Given the description of an element on the screen output the (x, y) to click on. 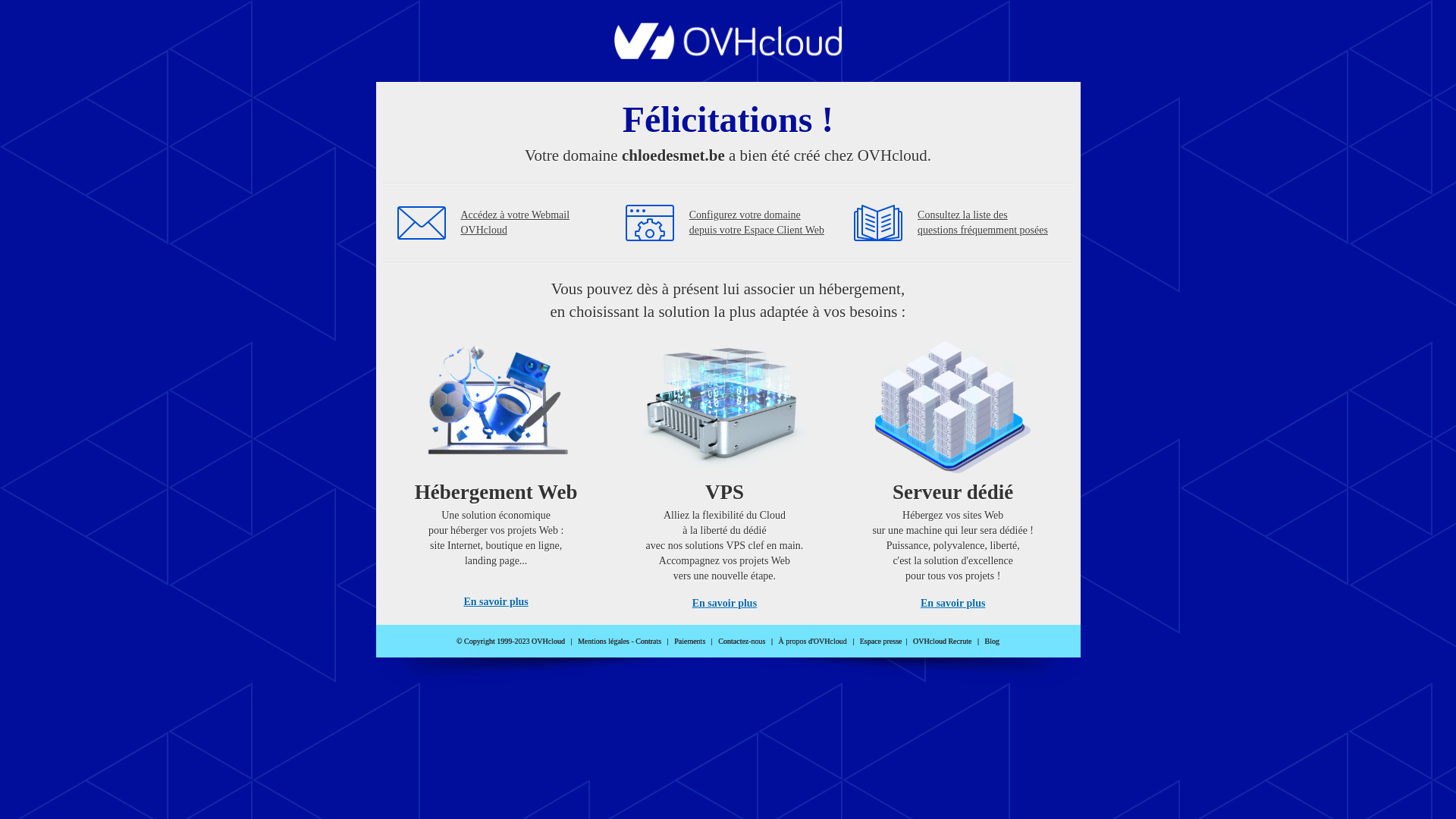
OVHcloud Recrute Element type: text (942, 641)
Configurez votre domaine
depuis votre Espace Client Web Element type: text (756, 222)
En savoir plus Element type: text (952, 602)
Blog Element type: text (992, 641)
Espace presse Element type: text (880, 641)
En savoir plus Element type: text (724, 602)
VPS Element type: hover (724, 469)
En savoir plus Element type: text (495, 601)
Paiements Element type: text (689, 641)
Contactez-nous Element type: text (741, 641)
OVHcloud Element type: hover (727, 54)
